Given the description of an element on the screen output the (x, y) to click on. 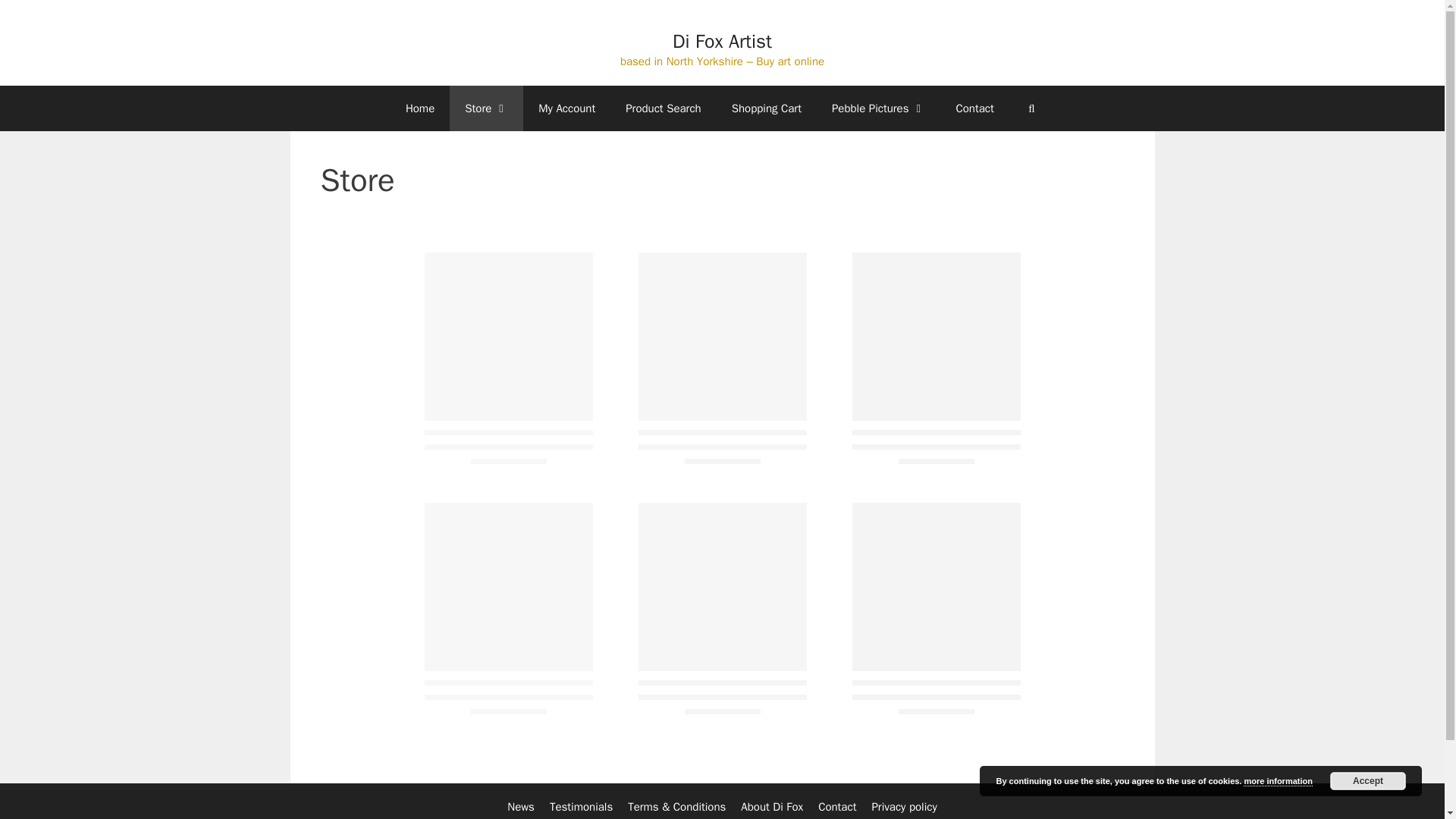
My Account (566, 107)
Contact (974, 107)
Accept (1368, 781)
Home (419, 107)
News (520, 807)
Di Fox Artist (721, 41)
About Di Fox (772, 807)
Contact (837, 807)
Product Search (663, 107)
more information (1277, 781)
Privacy policy (903, 807)
Store (485, 107)
Testimonials (581, 807)
Shopping Cart (766, 107)
Pebble Pictures (878, 107)
